Given the description of an element on the screen output the (x, y) to click on. 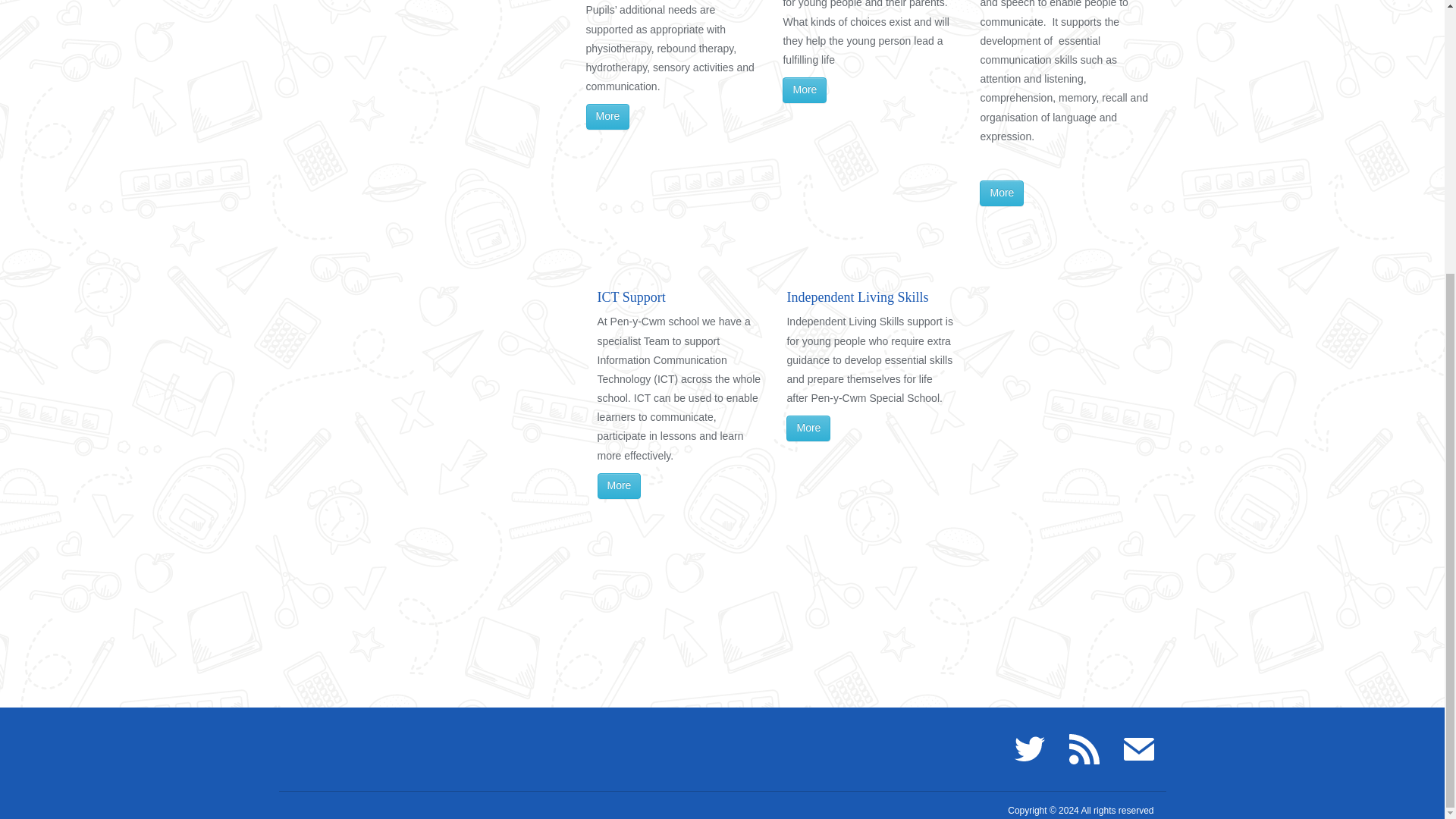
More (606, 116)
RSS feed (1083, 748)
More (805, 89)
More (619, 485)
More (807, 428)
Twitter (1029, 748)
More (1001, 193)
Email (1139, 748)
